Given the description of an element on the screen output the (x, y) to click on. 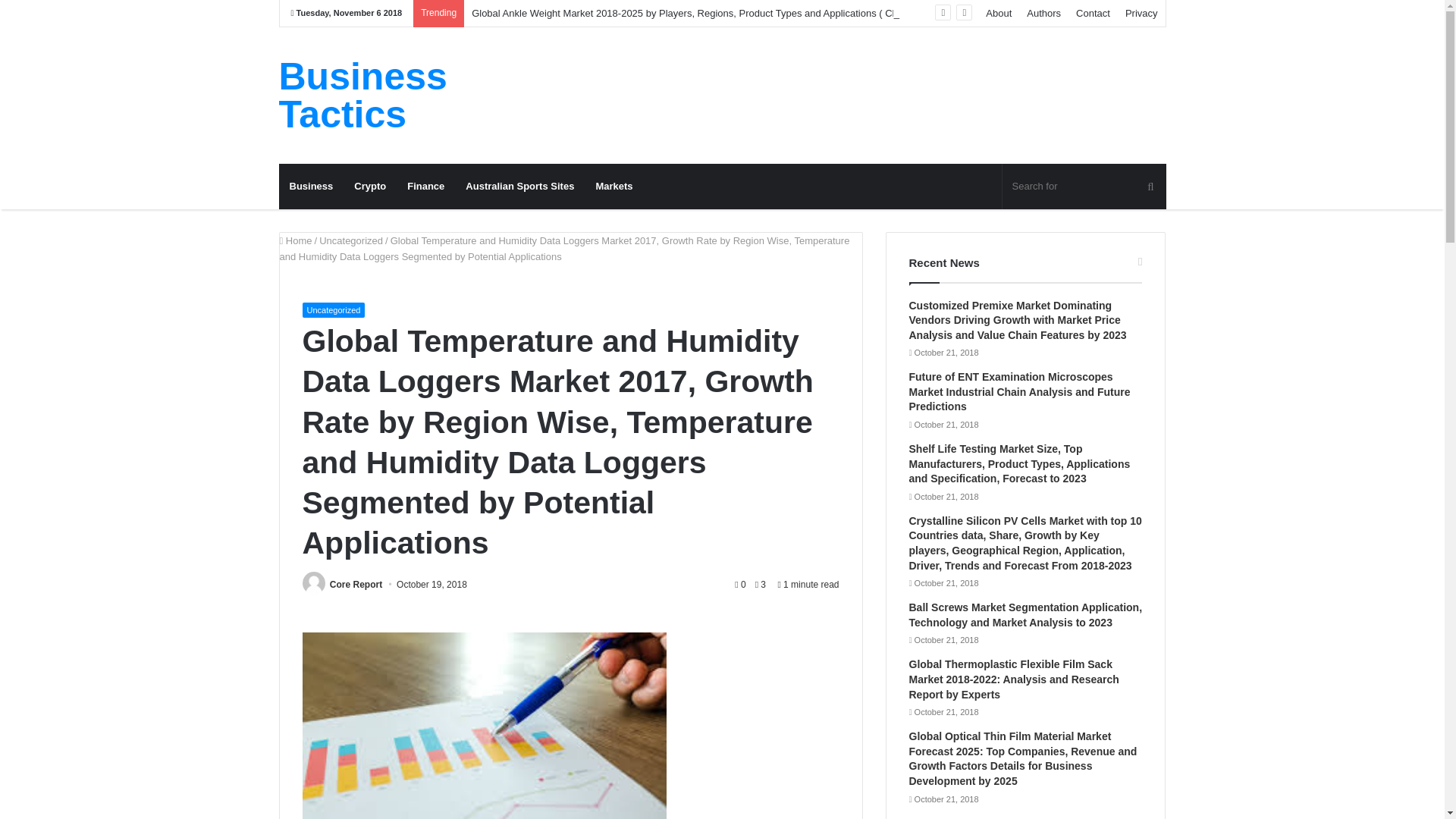
Crypto (369, 186)
Markets (614, 186)
Business Tactics (419, 95)
Privacy (1142, 13)
Finance (425, 186)
Search for (1084, 186)
Authors (1043, 13)
Core Report (355, 584)
Australian Sports Sites (519, 186)
Core Report (355, 584)
